Given the description of an element on the screen output the (x, y) to click on. 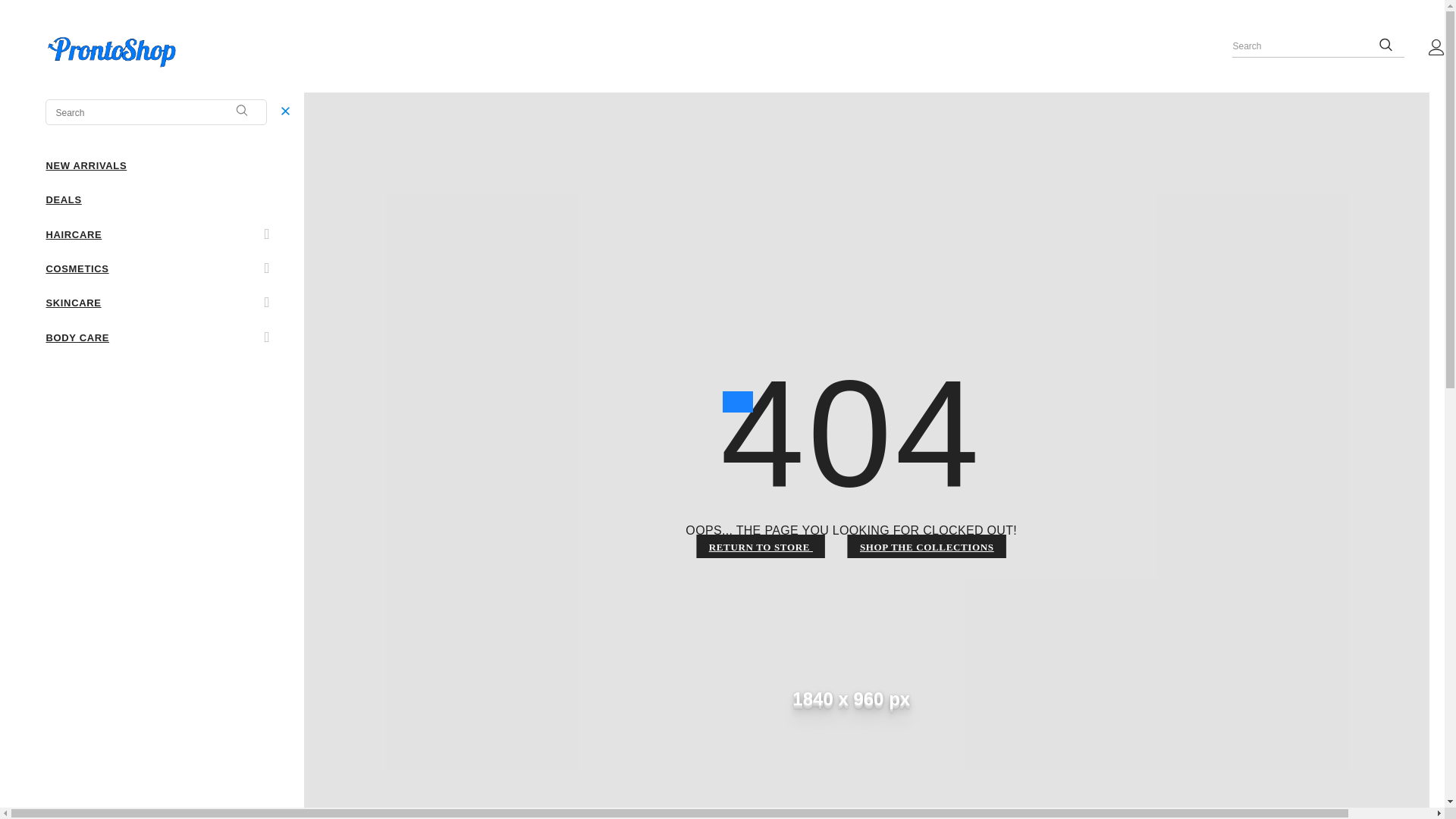
Twitter (77, 422)
NEW ARRIVALS (85, 164)
BODY CARE (77, 336)
HAIRCARE (73, 233)
User Icon (1436, 47)
DEALS (63, 198)
SHOP THE COLLECTIONS (926, 545)
RETURN TO STORE (761, 545)
Facebook (54, 422)
COSMETICS (76, 267)
